Given the description of an element on the screen output the (x, y) to click on. 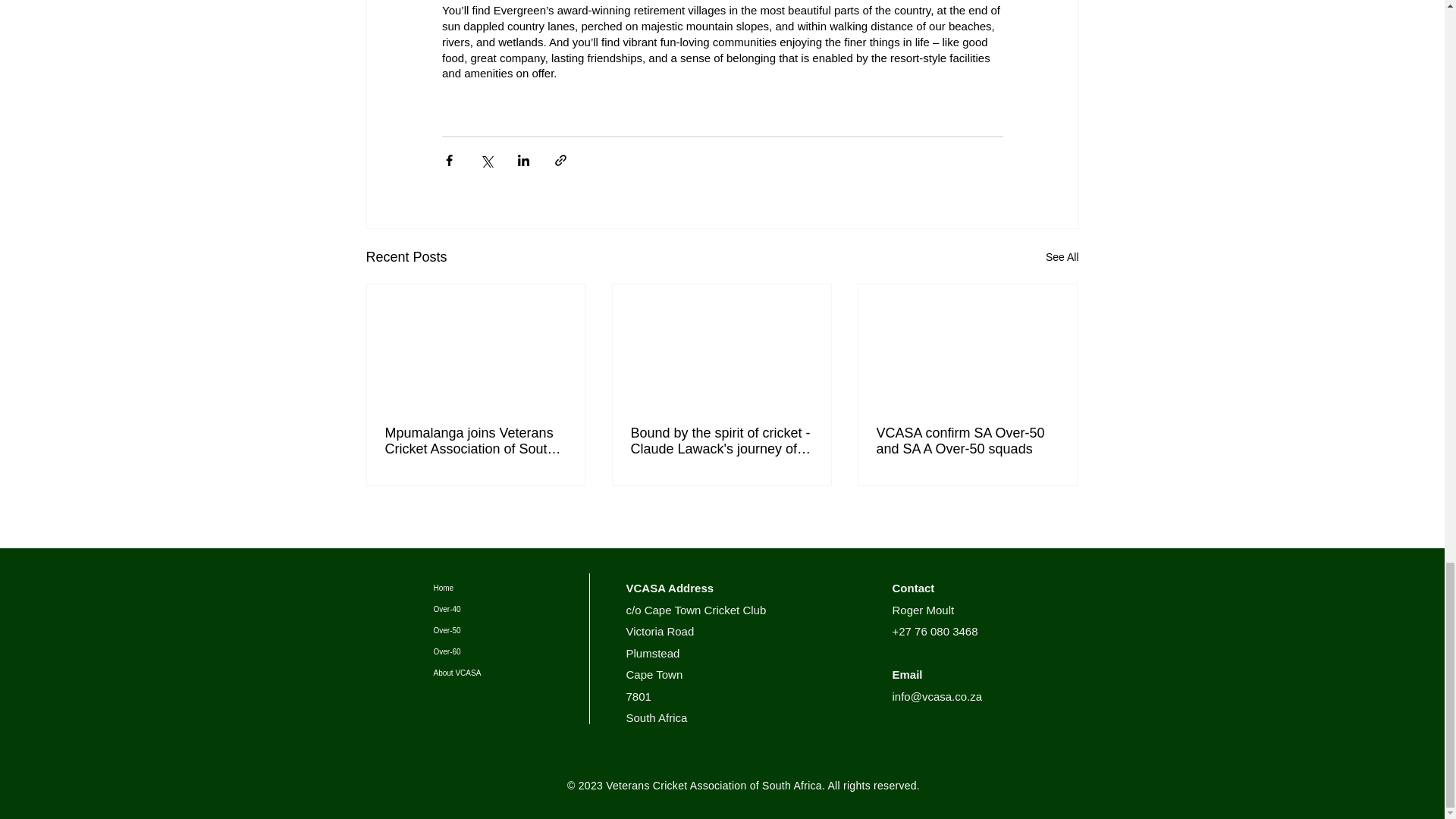
Over-50 (510, 630)
About VCASA (510, 672)
See All (1061, 257)
Over-60 (510, 651)
Over-40 (510, 608)
VCASA confirm SA Over-50 and SA A Over-50 squads (967, 441)
Home (510, 588)
